Given the description of an element on the screen output the (x, y) to click on. 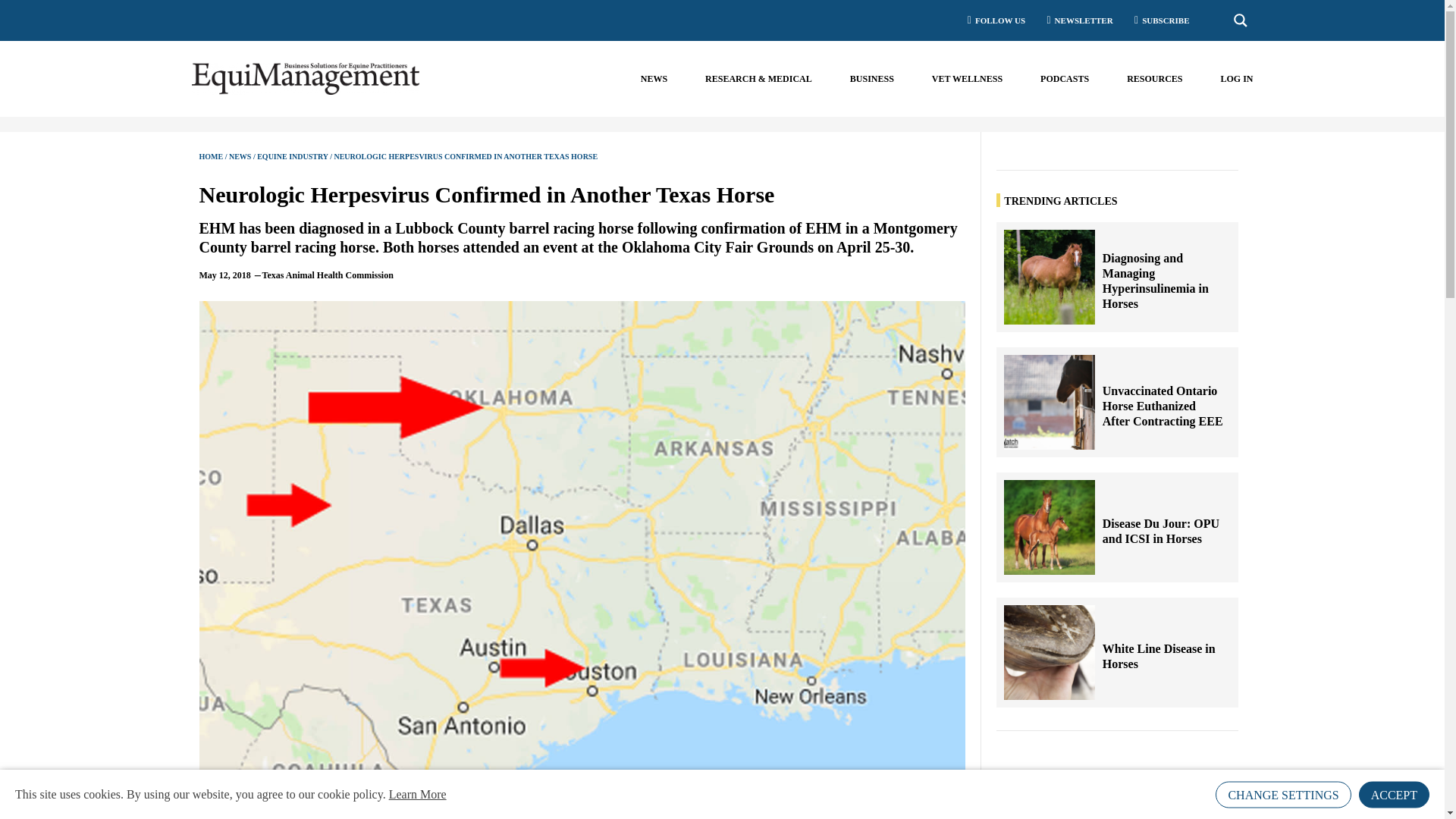
BUSINESS (871, 79)
White Line Disease in Horses (1049, 652)
Unvaccinated Ontario Horse Euthanized After Contracting EEE (1162, 406)
White Line Disease in Horses (1162, 656)
FOLLOW US (991, 20)
NEWSLETTER (1074, 20)
Unvaccinated Ontario Horse Euthanized After Contracting EEE (1049, 401)
